Given the description of an element on the screen output the (x, y) to click on. 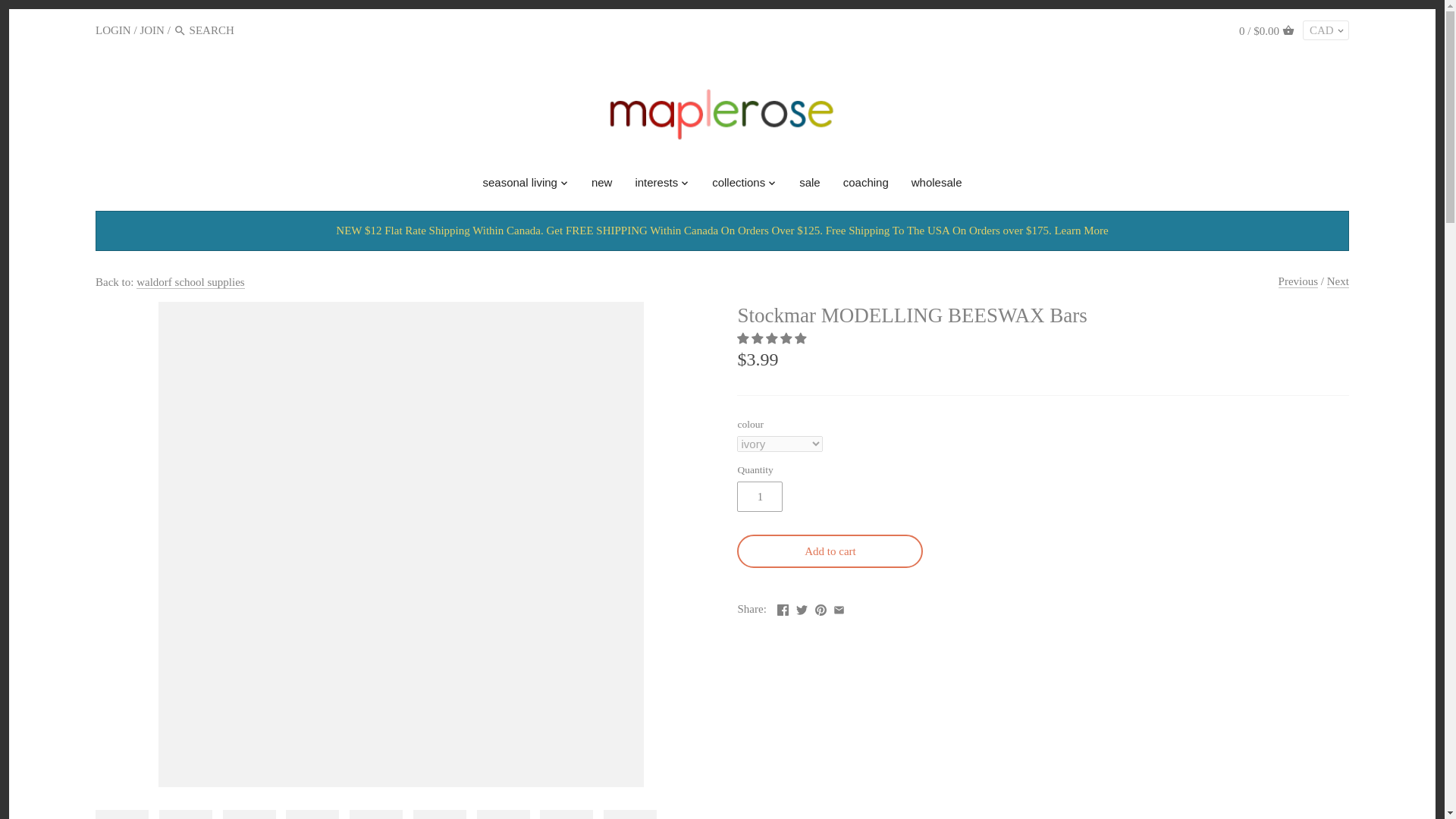
Email (838, 609)
Share on Twitter (802, 607)
Share using email (838, 607)
Pinterest (821, 609)
Facebook (783, 609)
waldorf school supplies (190, 282)
collections (738, 184)
LOGIN (113, 30)
1 (759, 496)
seasonal living (520, 184)
